Given the description of an element on the screen output the (x, y) to click on. 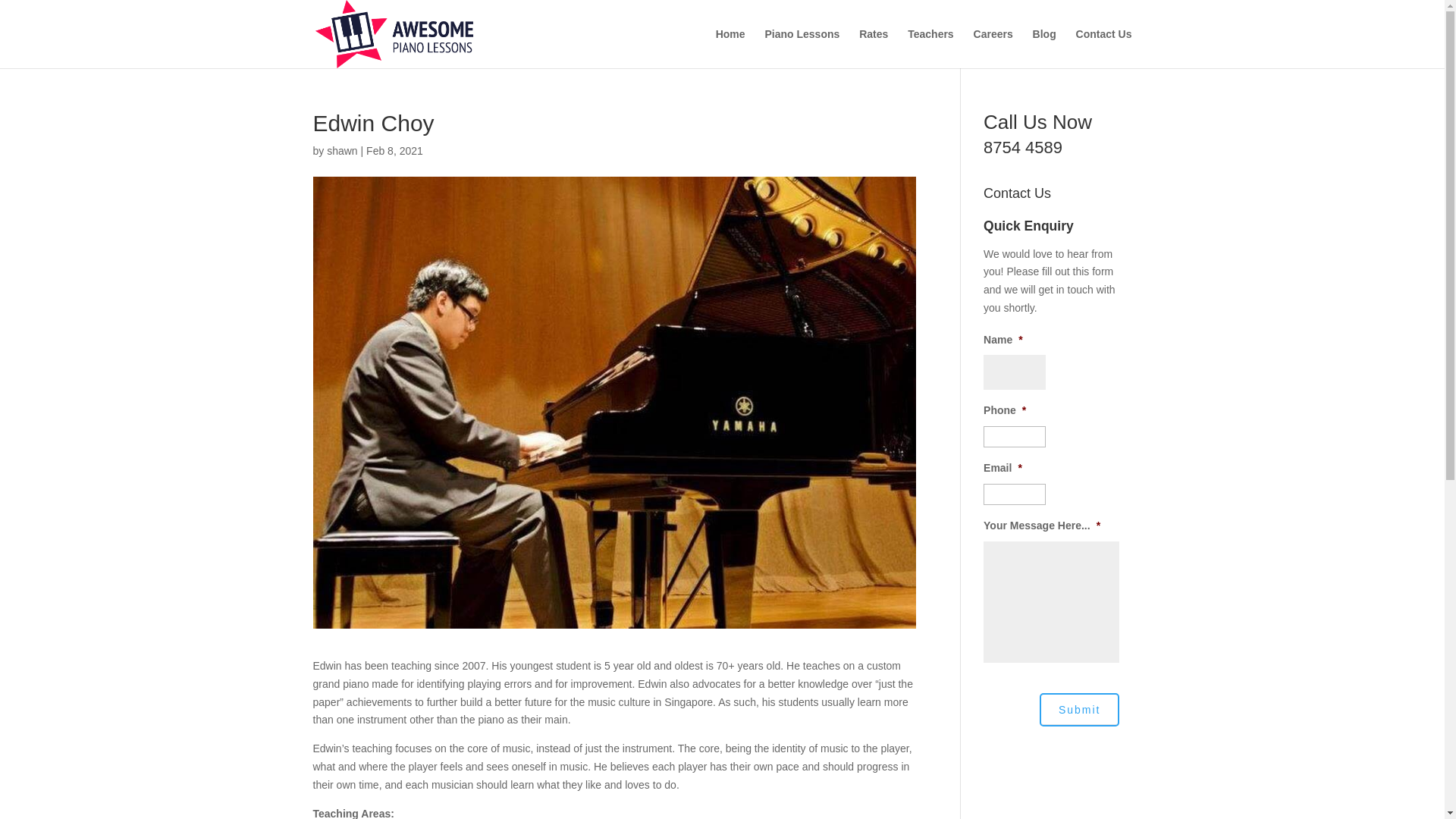
Rates (873, 47)
Careers (993, 47)
Piano Lessons (802, 47)
Home (730, 47)
Blog (1044, 47)
Posts by shawn (341, 150)
Submit (1079, 709)
Contact Us (1103, 47)
Teachers (930, 47)
